Given the description of an element on the screen output the (x, y) to click on. 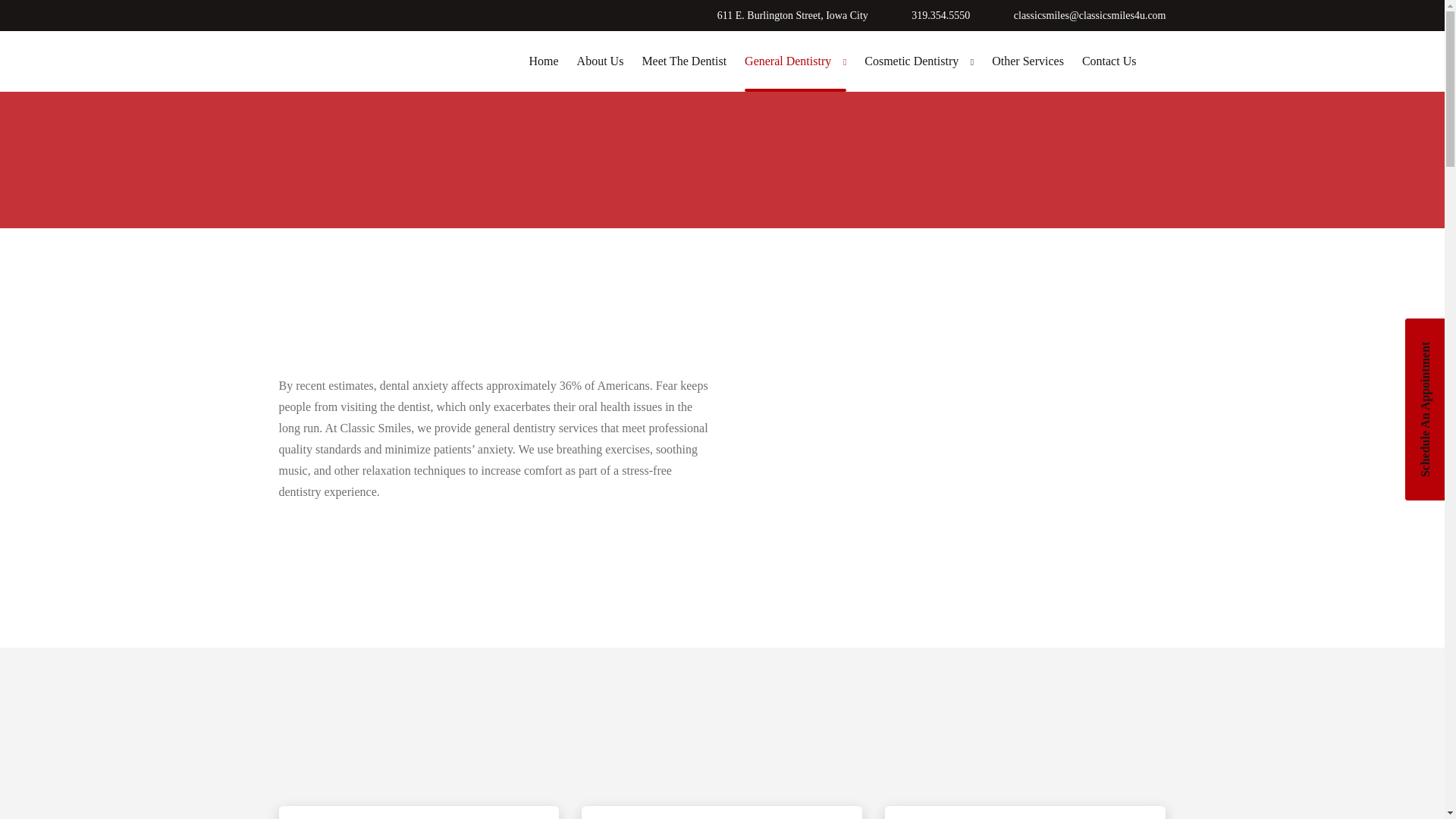
Cosmetic Dentistry (919, 61)
611 E. Burlington Street, Iowa City (784, 15)
General Dentistry (794, 61)
General Dentistry (794, 61)
Classic Smiles (376, 60)
Cosmetic Dentistry (919, 61)
Contact Us (1109, 61)
Meet The Dentist (684, 61)
319.354.5550 (932, 15)
319.354.5550 (932, 15)
